Given the description of an element on the screen output the (x, y) to click on. 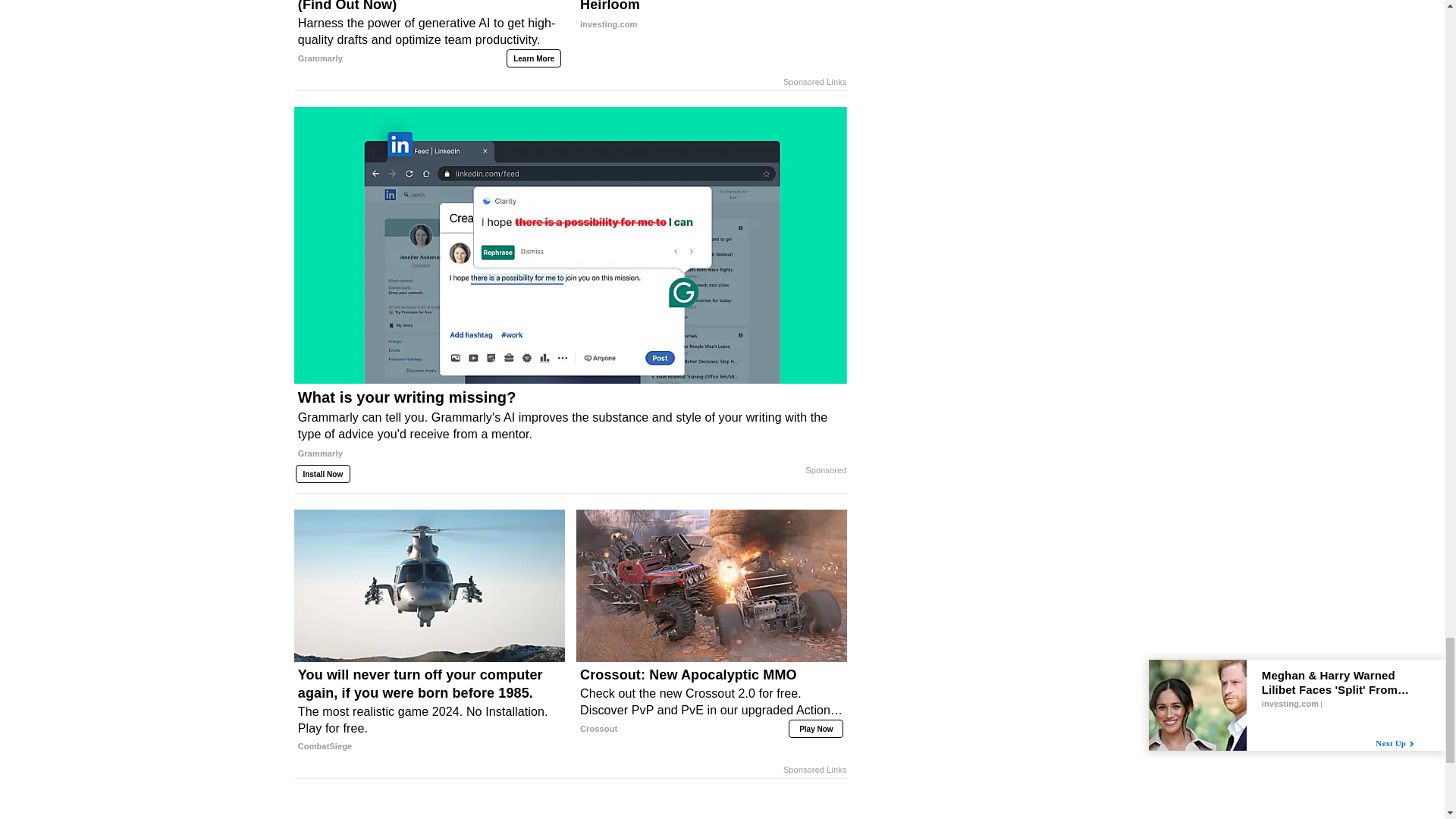
What is your writing missing? (570, 431)
They Wouldn't Let Her Have The Royal Heirloom (711, 16)
Crossout: New Apocalyptic MMO (711, 16)
Learn More (711, 701)
Sponsored Links (533, 58)
Sponsored (815, 82)
